Given the description of an element on the screen output the (x, y) to click on. 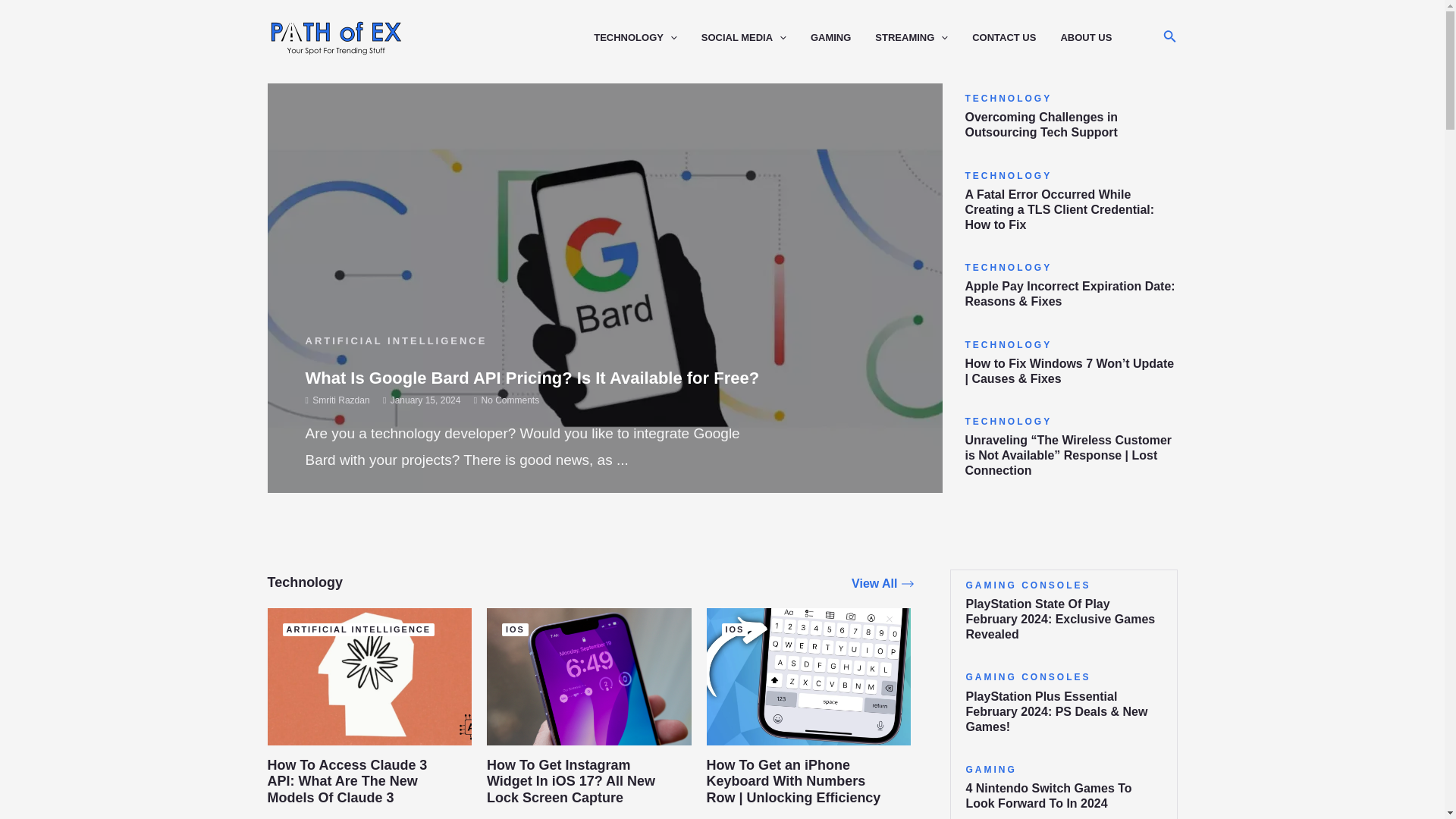
ABOUT US (1097, 38)
STREAMING (923, 38)
Posts by Smriti Razdan (341, 399)
SOCIAL MEDIA (755, 38)
CONTACT US (1015, 38)
TECHNOLOGY (647, 38)
